Given the description of an element on the screen output the (x, y) to click on. 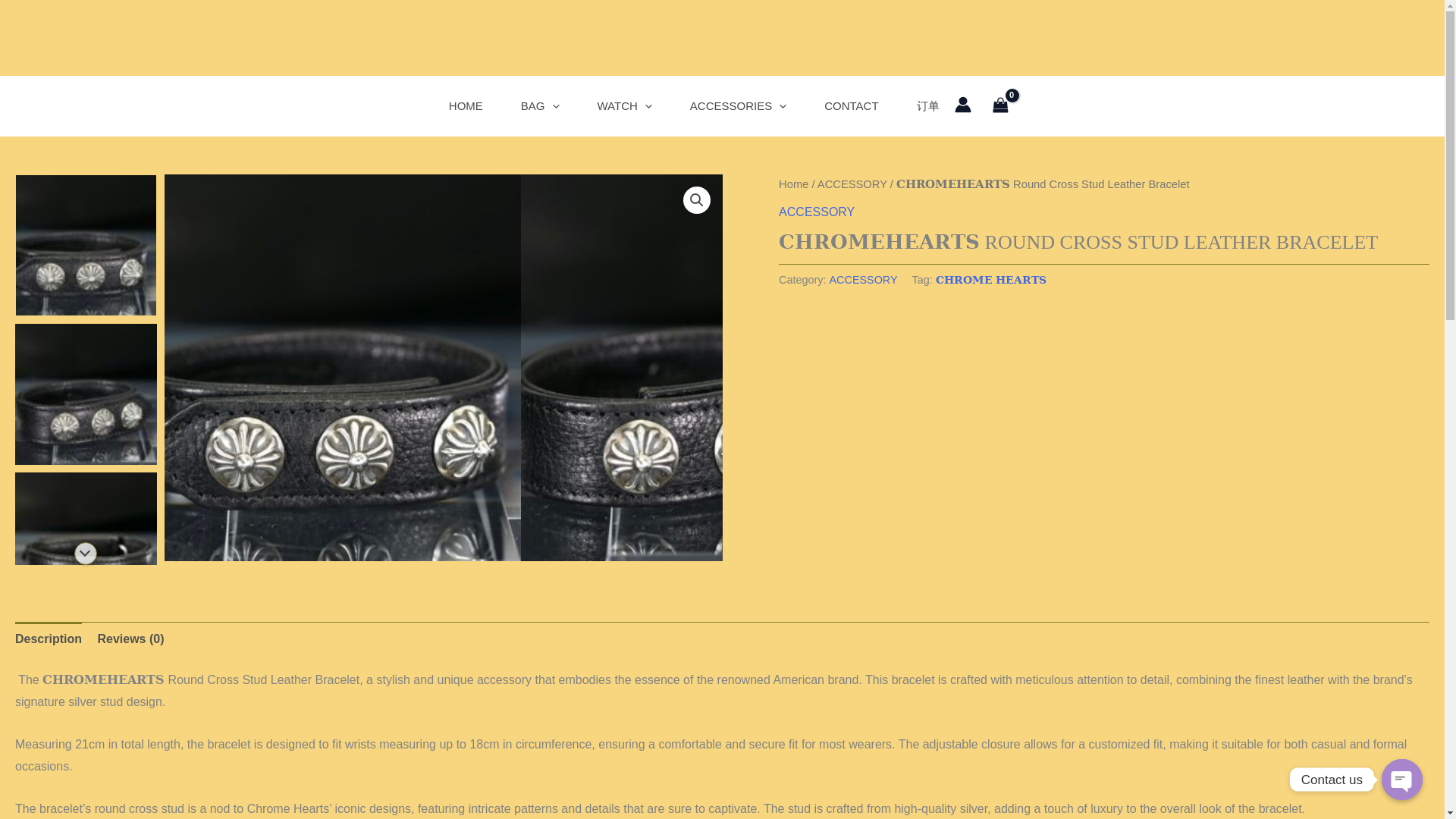
CONTACT (850, 106)
Log In (683, 627)
ACCESSORIES (738, 106)
HOME (465, 106)
WATCH (623, 106)
BAG (540, 106)
